Given the description of an element on the screen output the (x, y) to click on. 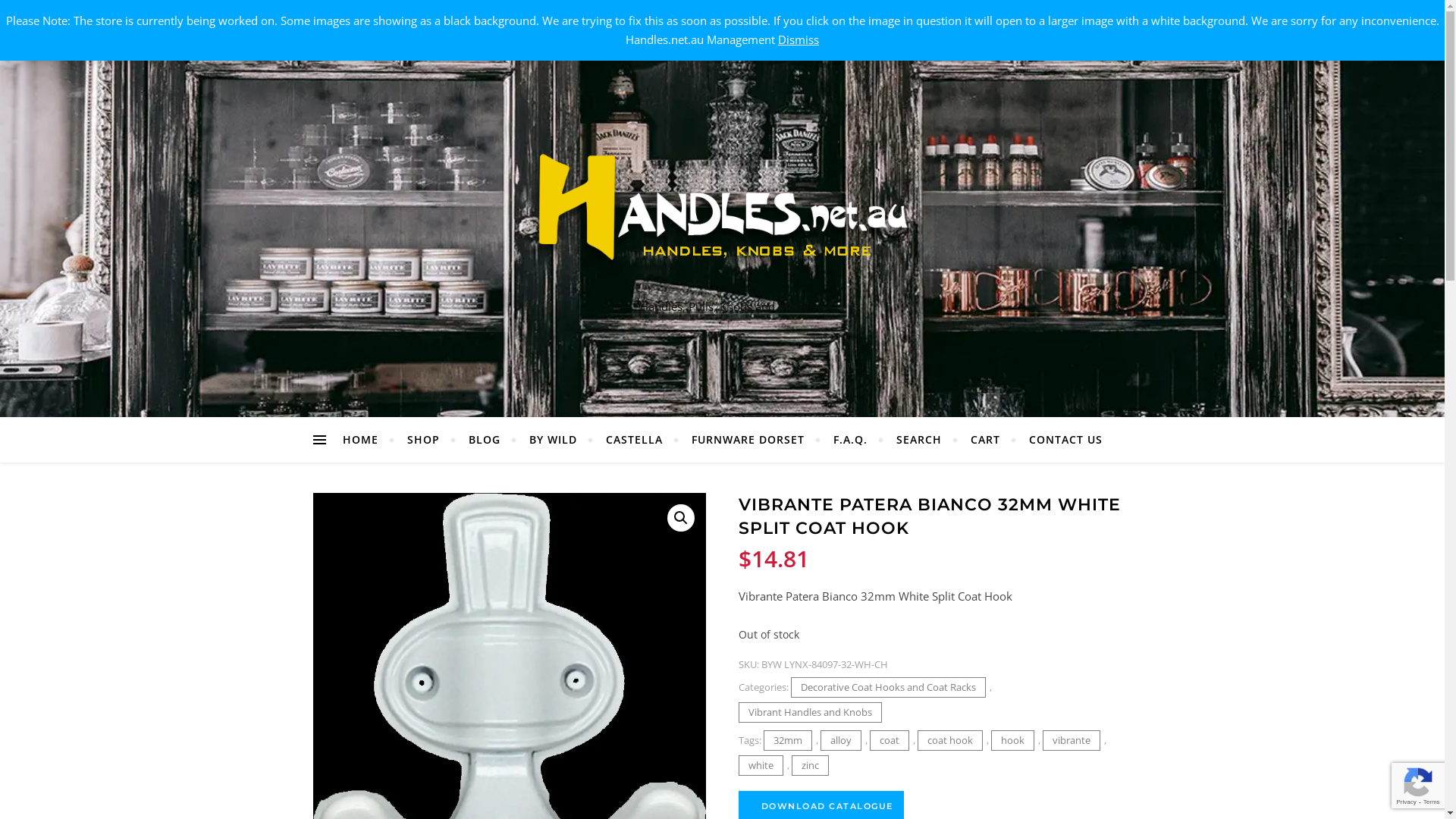
F.A.Q. Element type: text (850, 439)
SITEMAP Element type: text (513, 18)
coat Element type: text (889, 740)
Handles.net.au Element type: hover (721, 212)
Vibrant Handles and Knobs Element type: text (809, 712)
MY ACCOUNT Element type: text (347, 18)
hook Element type: text (1012, 740)
zinc Element type: text (809, 765)
BLOG Element type: text (483, 439)
32mm Element type: text (787, 740)
Dismiss Element type: text (798, 39)
BY WILD Element type: text (552, 439)
white Element type: text (760, 765)
CART Element type: text (470, 18)
SHOP Element type: text (423, 439)
coat hook Element type: text (949, 740)
SEARCH Element type: text (917, 439)
FURNWARE DORSET Element type: text (746, 439)
CHECKOUT Element type: text (417, 18)
CONTACT US Element type: text (1059, 439)
Decorative Coat Hooks and Coat Racks Element type: text (887, 687)
HOME Element type: text (366, 439)
alloy Element type: text (840, 740)
vibrante Element type: text (1071, 740)
CASTELLA Element type: text (634, 439)
CART Element type: text (984, 439)
